Given the description of an element on the screen output the (x, y) to click on. 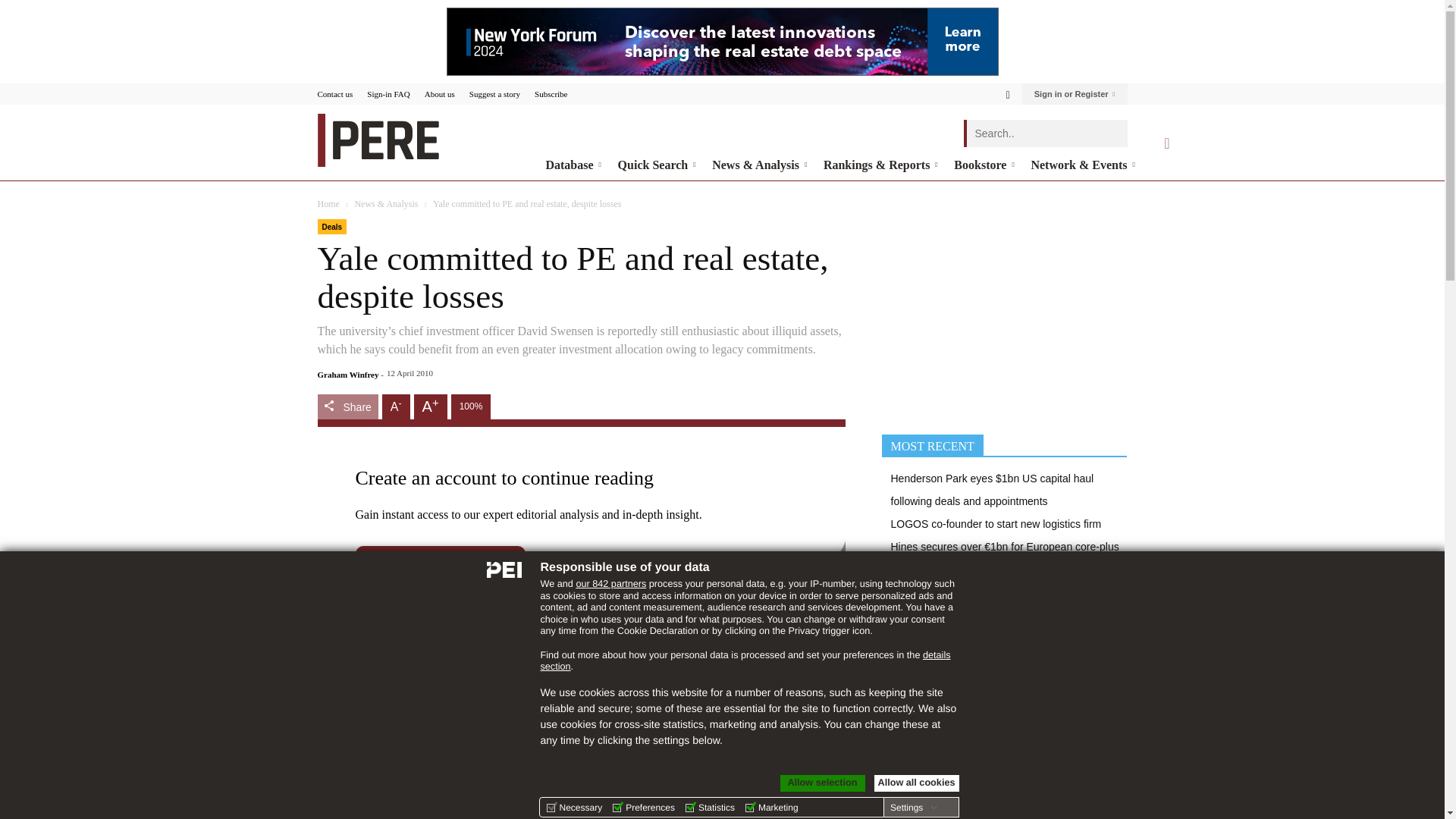
our 842 partners (610, 583)
Allow all cookies (915, 782)
Allow selection (821, 782)
details section (745, 661)
Settings (913, 807)
